Given the description of an element on the screen output the (x, y) to click on. 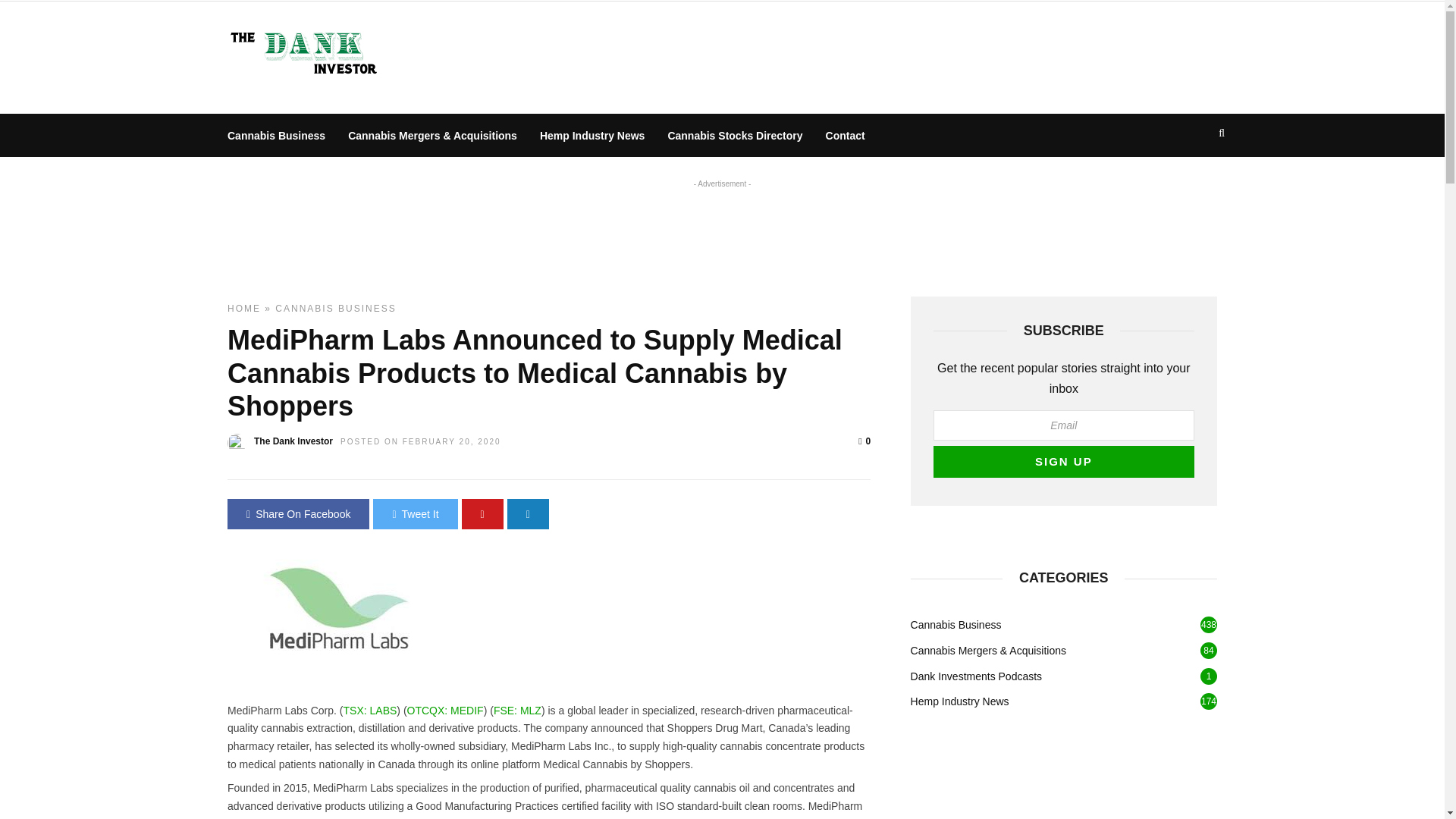
Share On Twitter (414, 513)
The Dank Investor (293, 440)
Cannabis Stocks Directory (734, 135)
Cannabis Business (275, 135)
Tweet It (414, 513)
0 (864, 440)
Sign up (1063, 461)
FSE: MLZ (517, 710)
TSX: LABS (370, 710)
Hemp Industry News (592, 135)
